Given the description of an element on the screen output the (x, y) to click on. 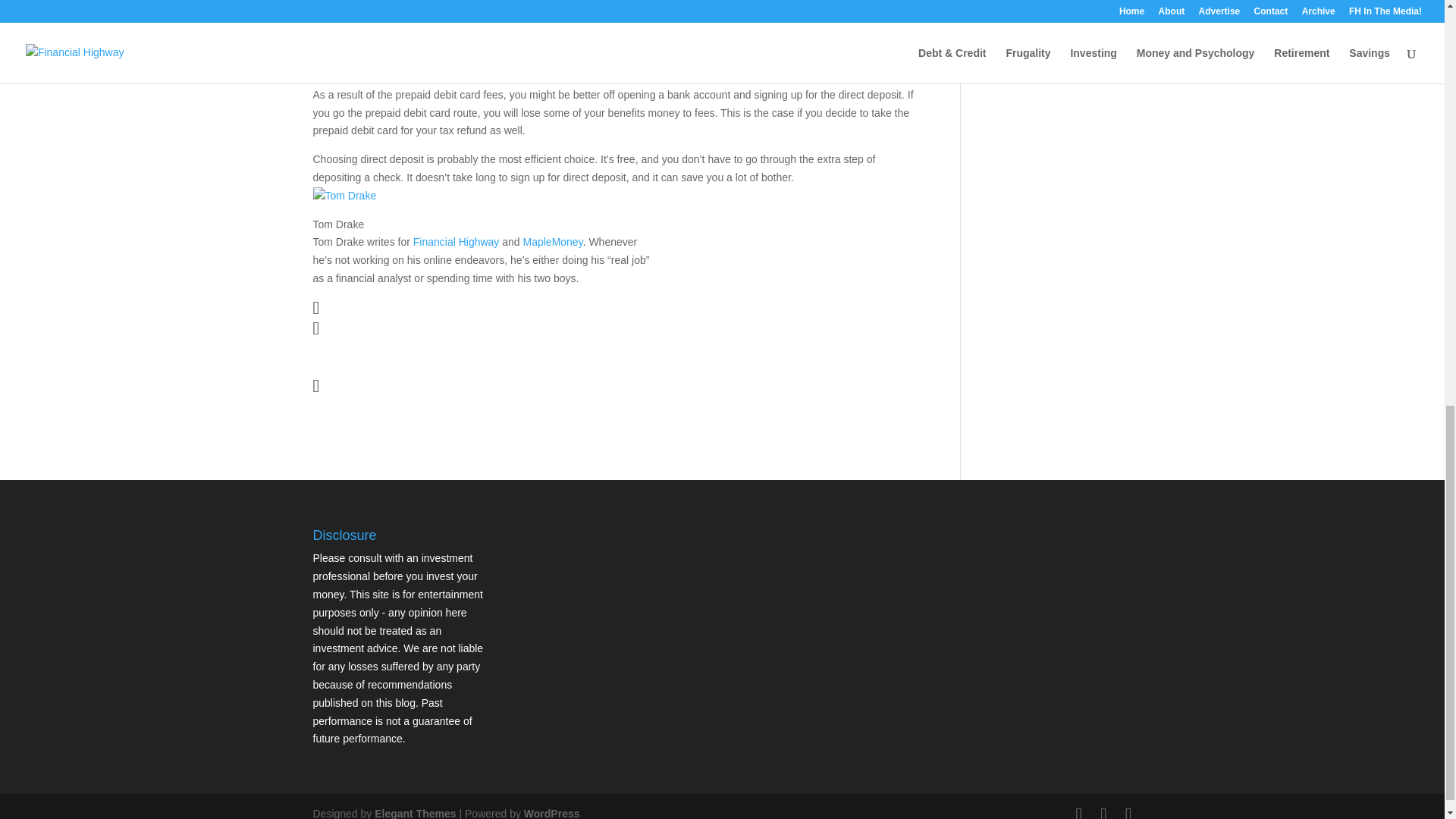
MapleMoney (552, 241)
Financial Highway (456, 241)
Elegant Themes (414, 813)
Premium WordPress Themes (414, 813)
WordPress (551, 813)
